Given the description of an element on the screen output the (x, y) to click on. 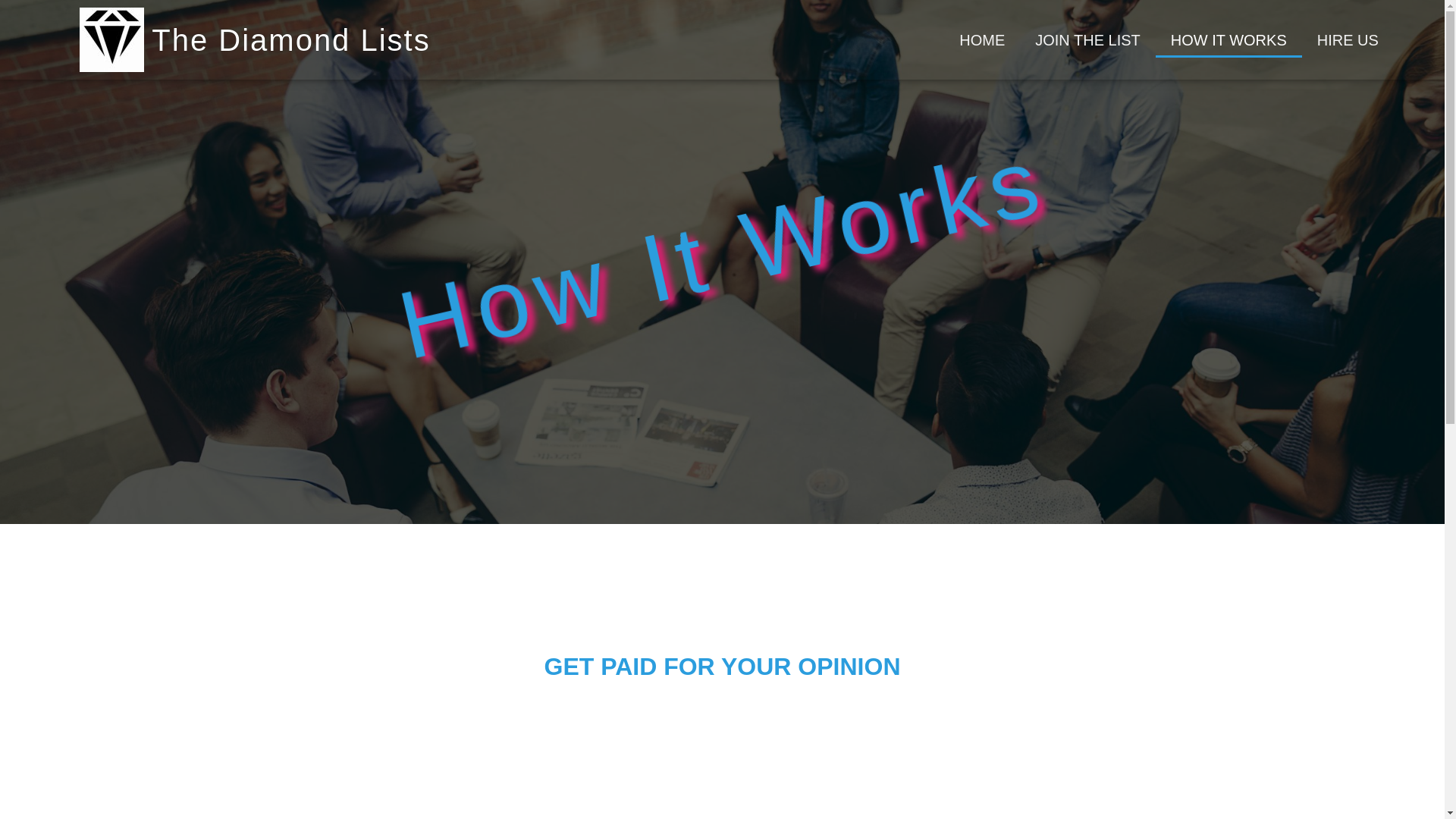
blackdiamond (112, 39)
The Diamond Lists (290, 39)
HOW IT WORKS (1228, 39)
HOME (981, 39)
JOIN THE LIST (1088, 39)
HIRE US (1347, 39)
